Given the description of an element on the screen output the (x, y) to click on. 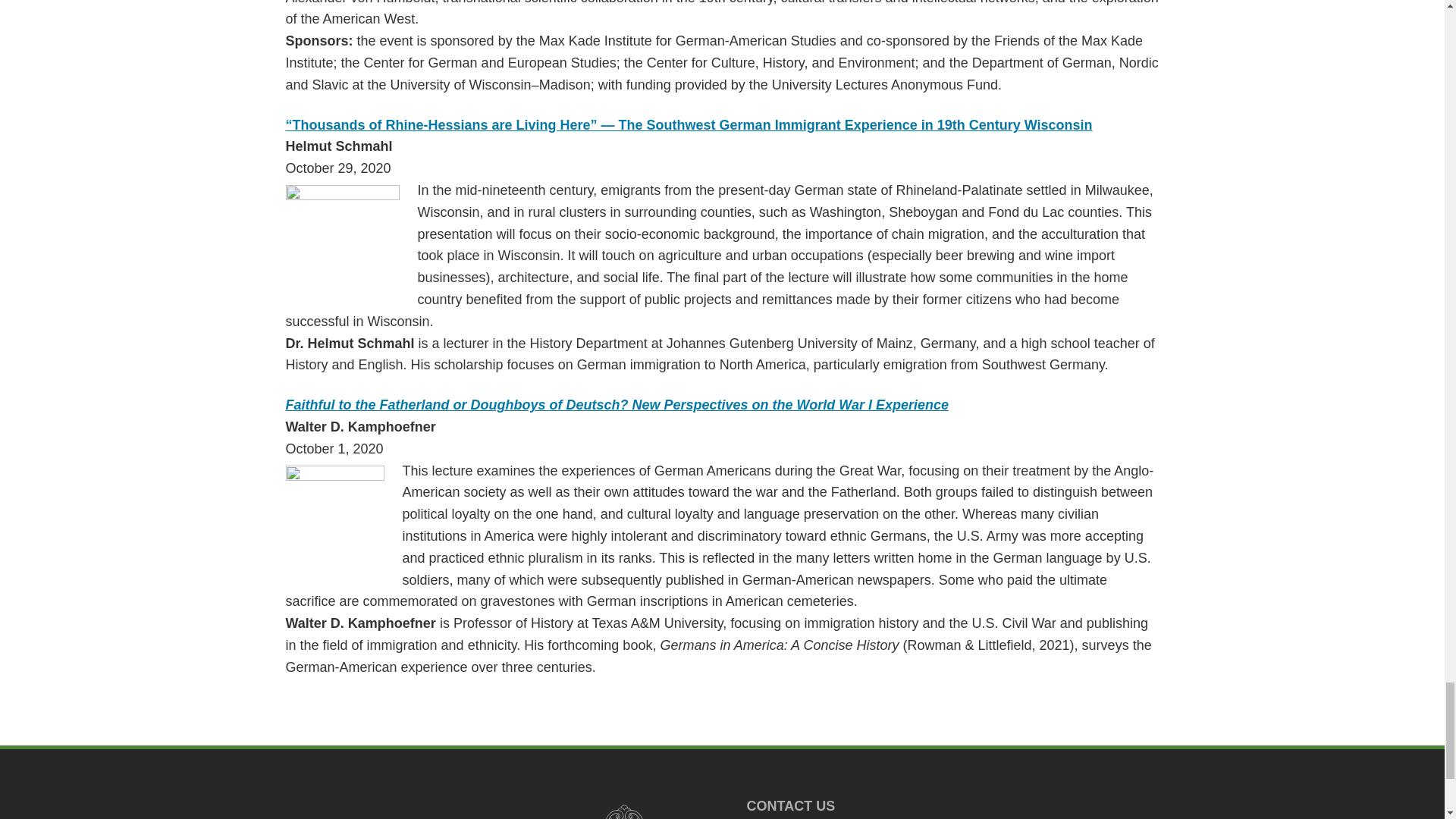
University logo that links to main university website (621, 808)
